Given the description of an element on the screen output the (x, y) to click on. 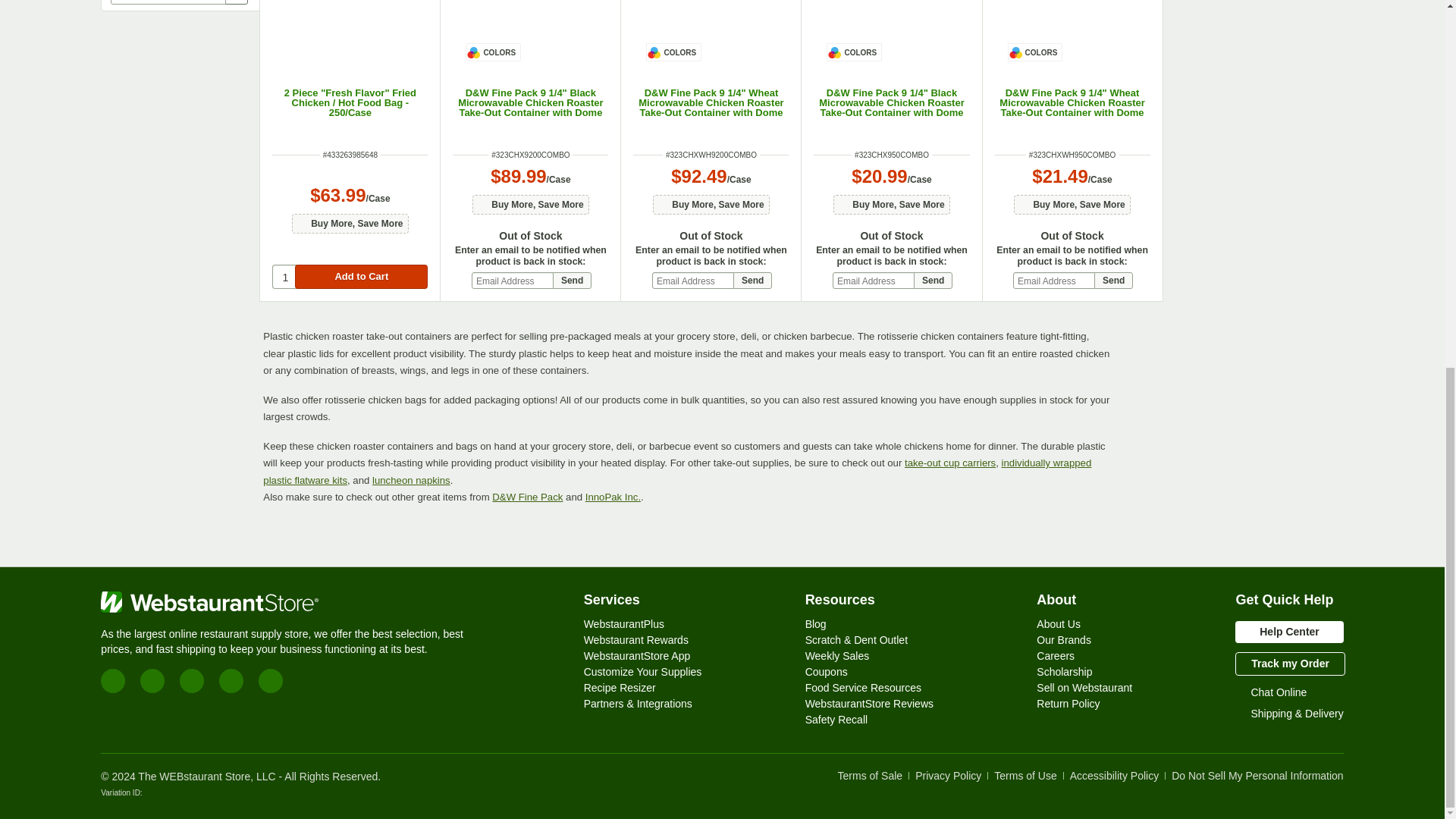
Send (572, 280)
InnoPak Inc. (612, 496)
Send (752, 280)
Add to Cart (361, 276)
1 (284, 276)
